Given the description of an element on the screen output the (x, y) to click on. 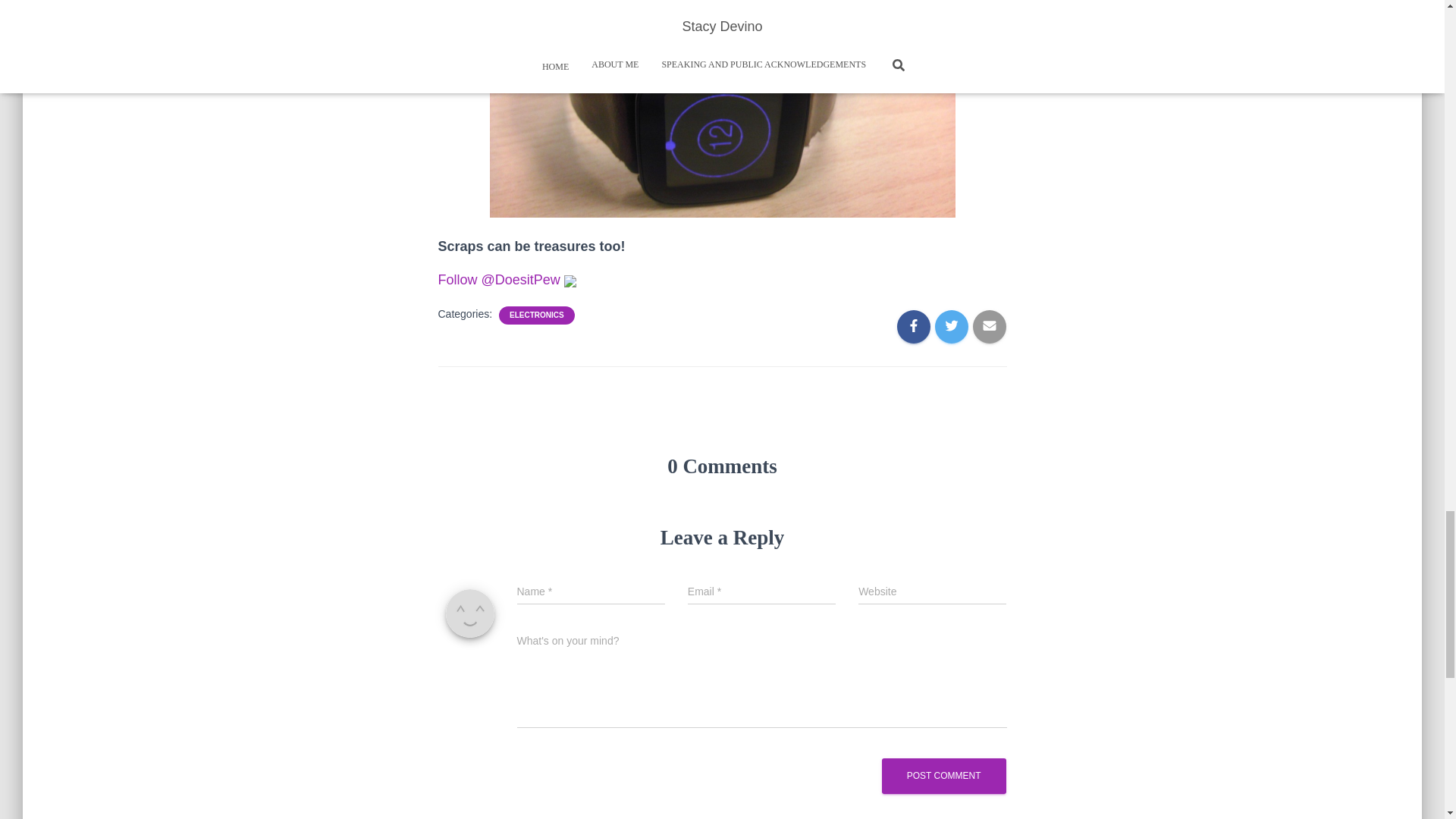
Post Comment (944, 775)
Post Comment (944, 775)
ELECTRONICS (537, 315)
IMAG0468 (722, 108)
